Given the description of an element on the screen output the (x, y) to click on. 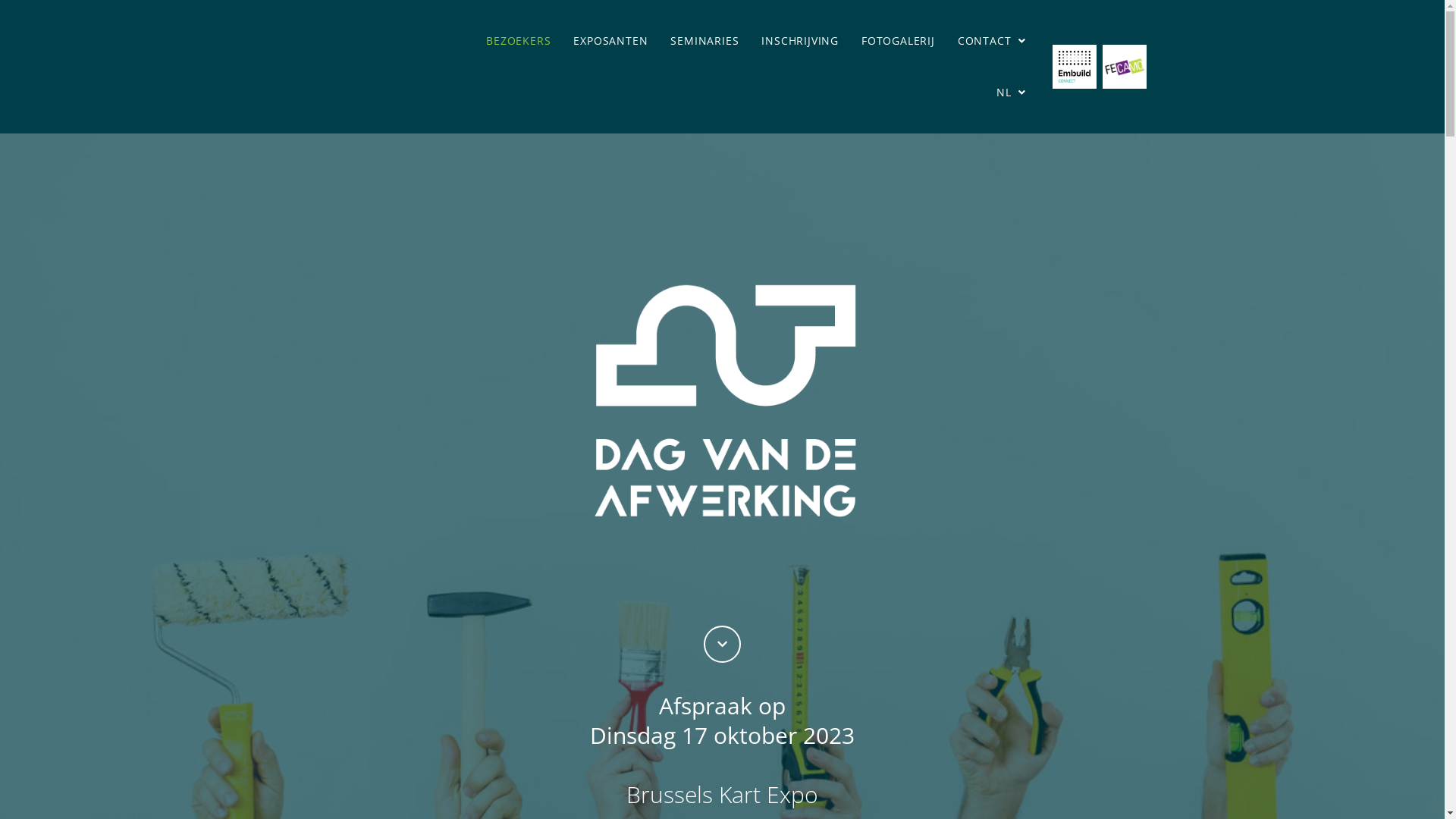
BEZOEKERS Element type: text (517, 40)
SEMINARIES Element type: text (703, 40)
INSCHRIJVING Element type: text (799, 40)
CONTACT Element type: text (991, 40)
EXPOSANTEN Element type: text (609, 40)
FOTOGALERIJ Element type: text (898, 40)
NL Element type: text (1011, 92)
